Given the description of an element on the screen output the (x, y) to click on. 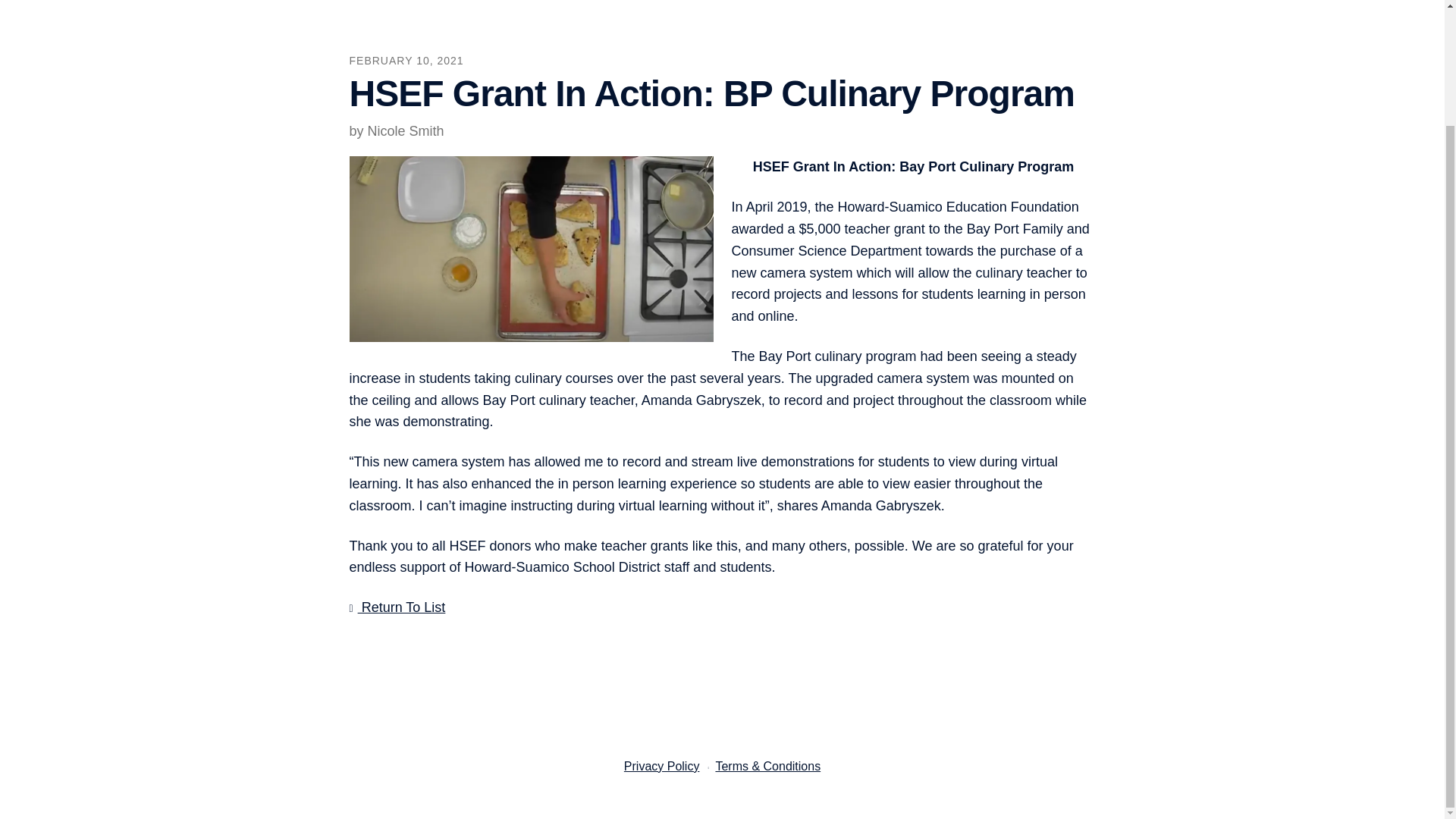
Return To List (397, 607)
Privacy Policy (662, 766)
